Given the description of an element on the screen output the (x, y) to click on. 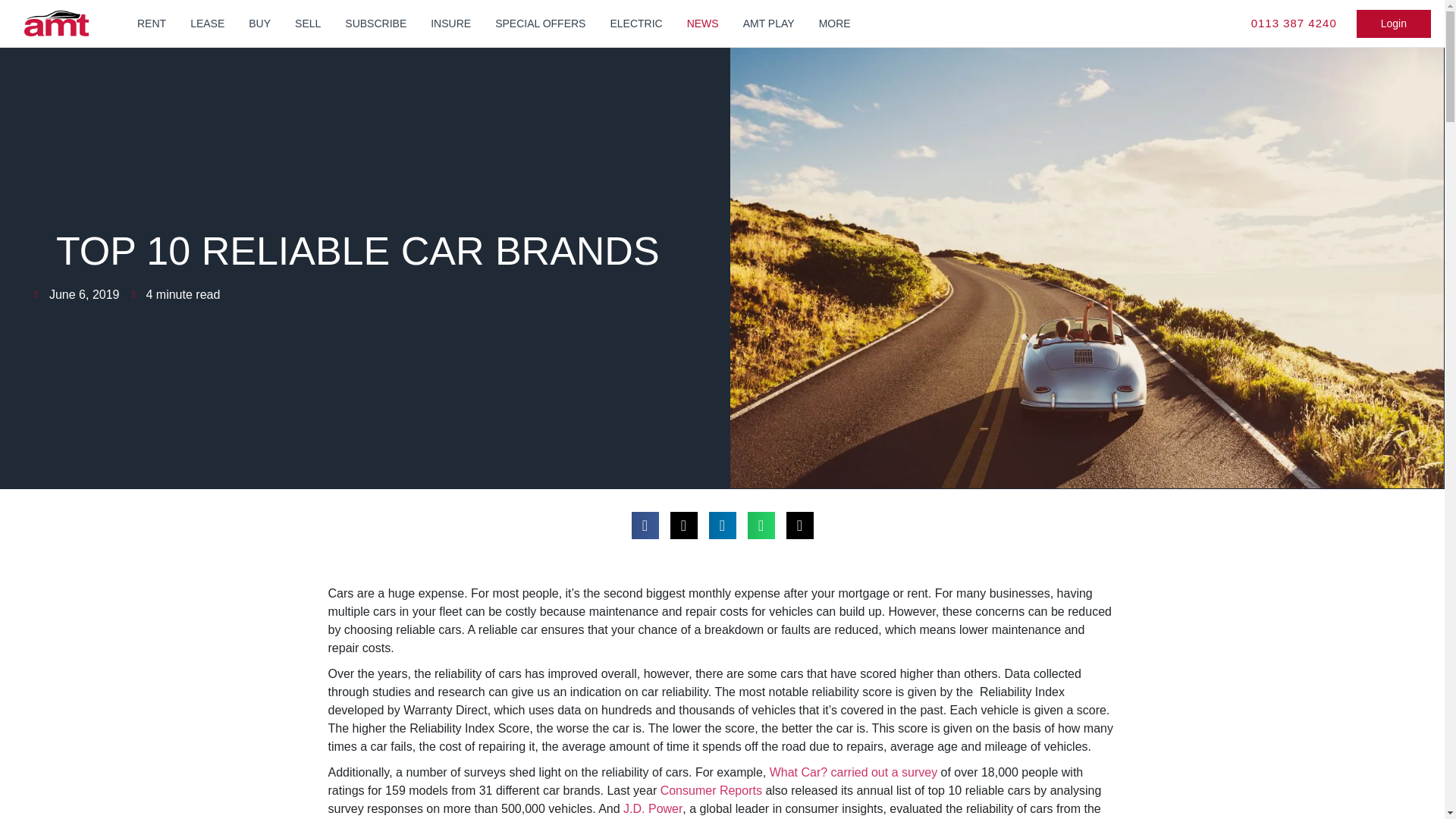
0113 387 4240 (1293, 23)
NEWS (702, 23)
RENT (151, 23)
INSURE (451, 23)
SPECIAL OFFERS (539, 23)
What Car? carried out a survey (853, 771)
SUBSCRIBE (376, 23)
SELL (307, 23)
LEASE (206, 23)
J.D. Power (652, 808)
